Given the description of an element on the screen output the (x, y) to click on. 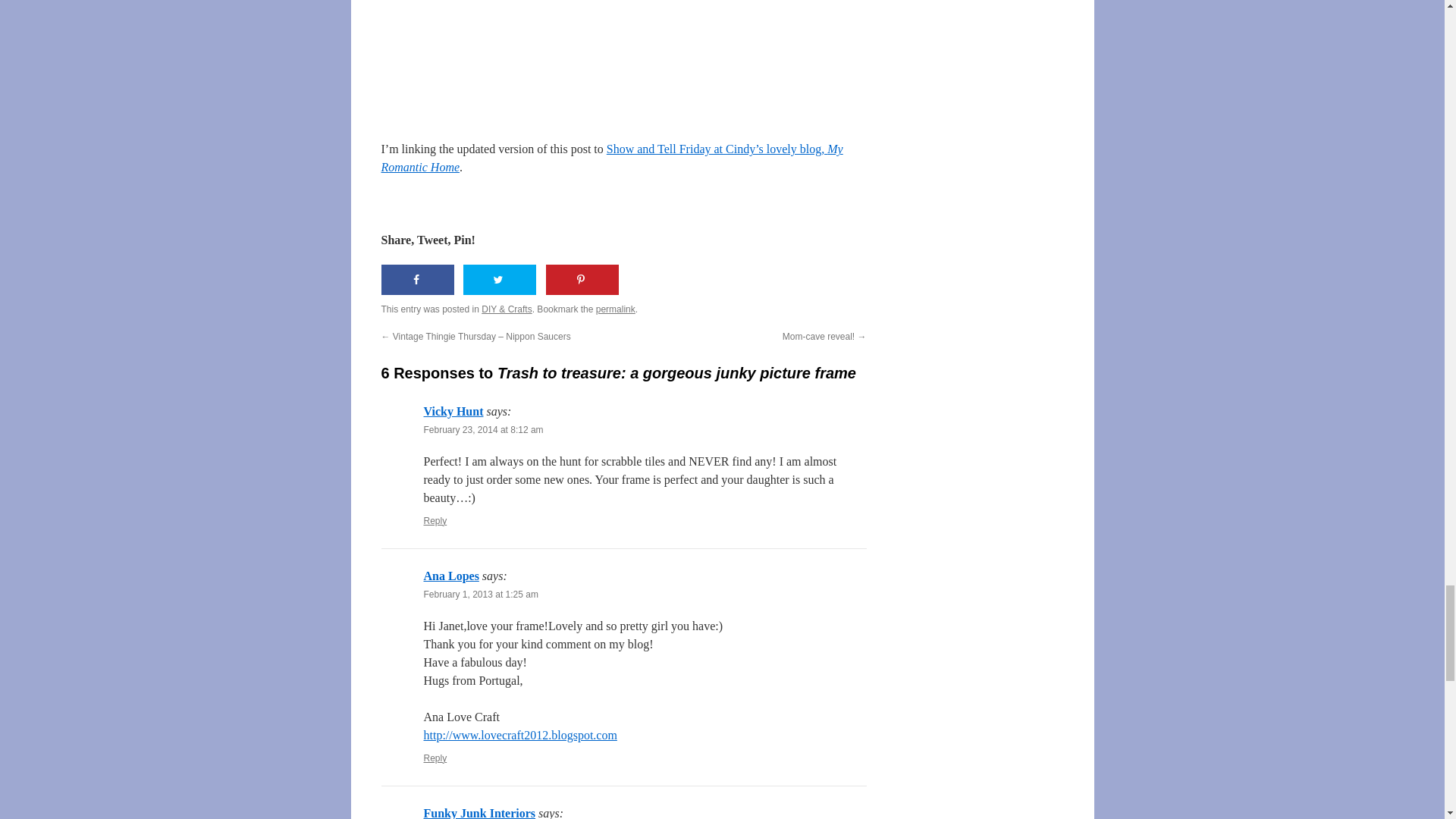
Funky Junk Interiors (479, 812)
Share on Twitter (499, 279)
Save to Pinterest (582, 279)
February 1, 2013 at 1:25 am (480, 593)
Vicky Hunt (453, 410)
Reply (434, 520)
February 23, 2014 at 8:12 am (483, 429)
Ana Lopes (451, 575)
Reply (434, 757)
